Given the description of an element on the screen output the (x, y) to click on. 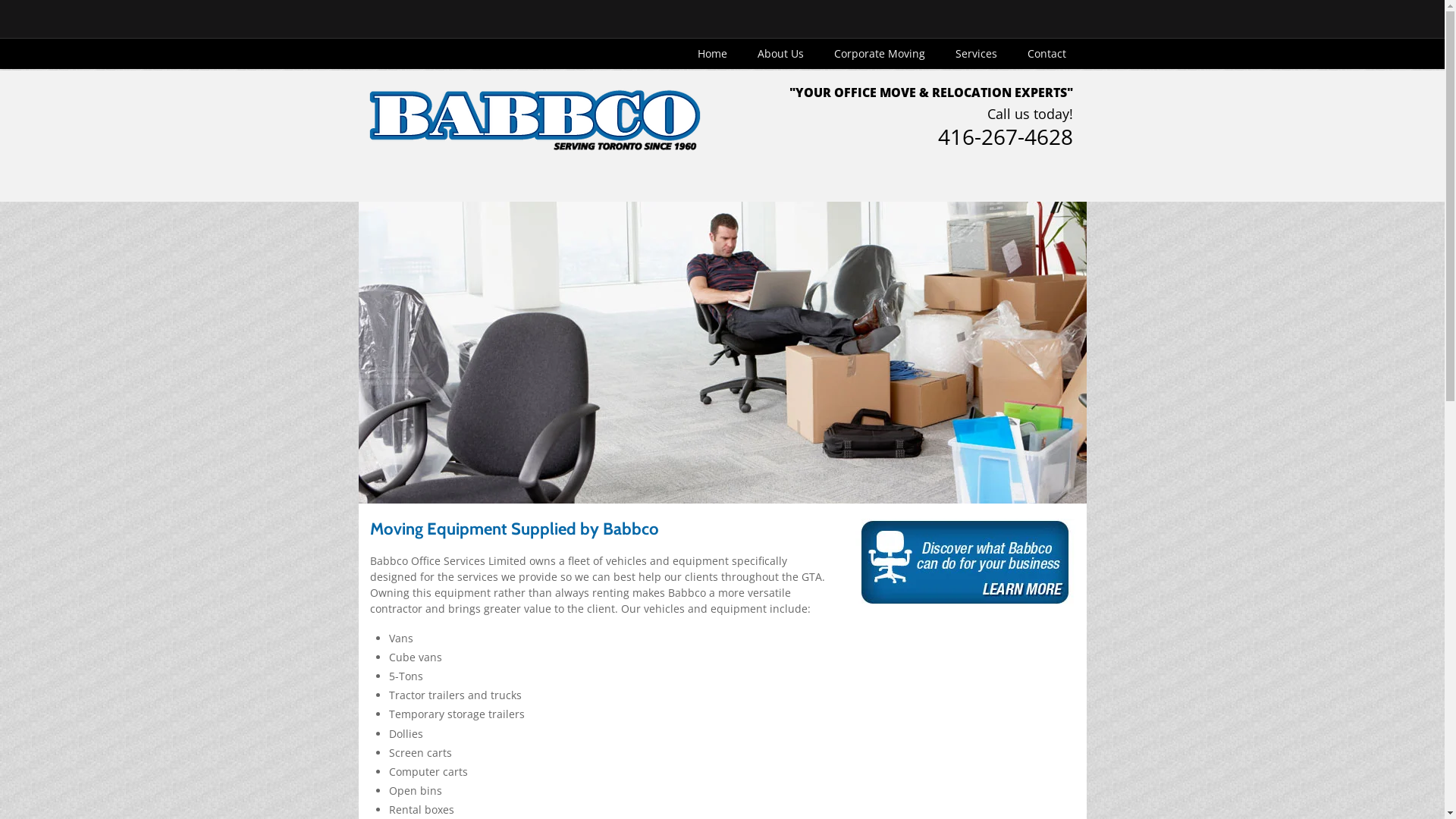
Embedded Content Element type: hover (994, 10)
About Us Element type: text (779, 53)
416-267-4628 Element type: text (1004, 142)
Services Element type: text (976, 53)
Corporate Moving Element type: text (879, 53)
Contact Element type: text (1045, 53)
Embedded Content Element type: hover (1066, 23)
Embedded Content Element type: hover (943, 25)
Home Element type: text (712, 53)
